Given the description of an element on the screen output the (x, y) to click on. 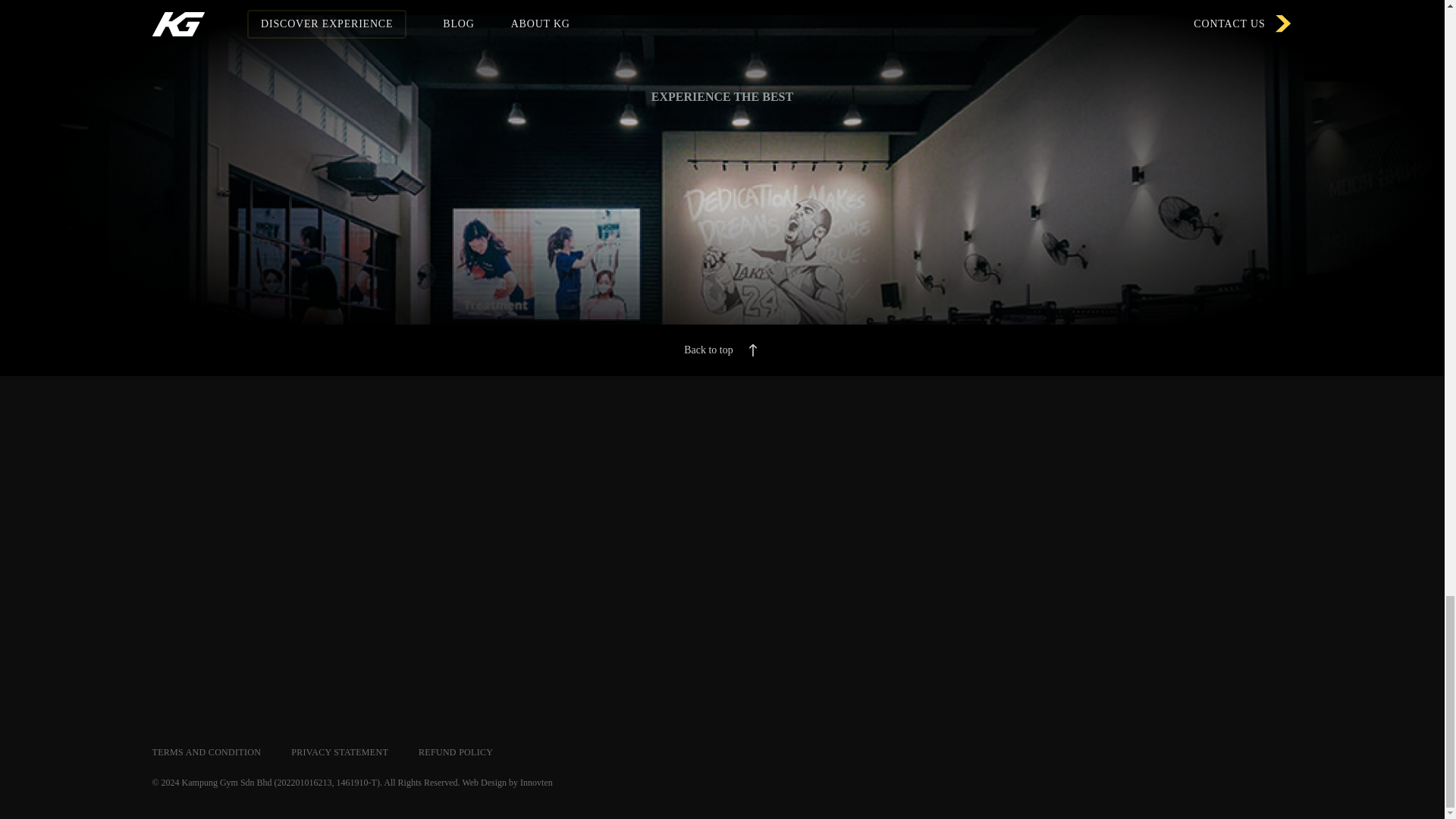
Back to top (722, 349)
